Given the description of an element on the screen output the (x, y) to click on. 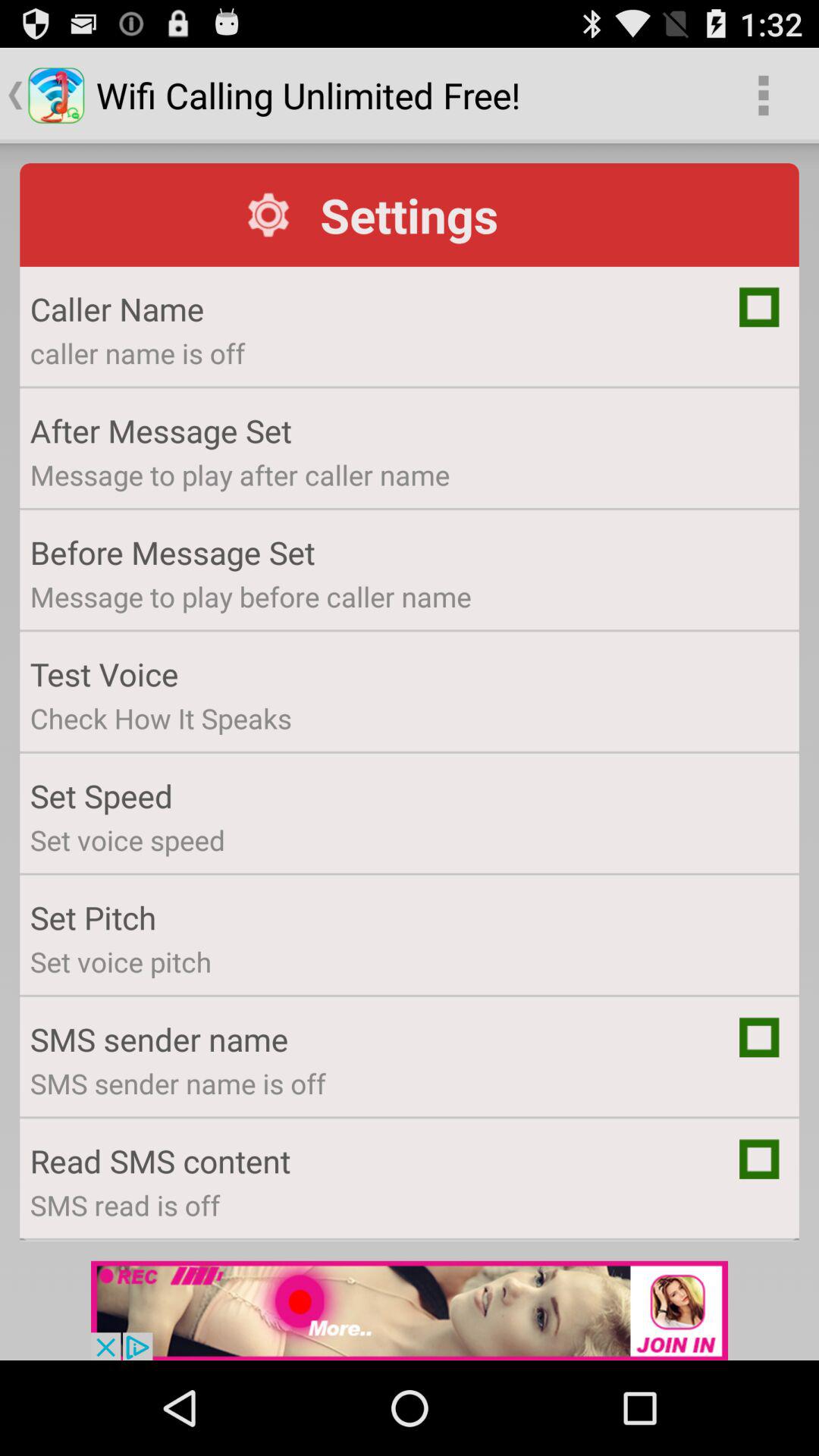
tick (759, 307)
